Given the description of an element on the screen output the (x, y) to click on. 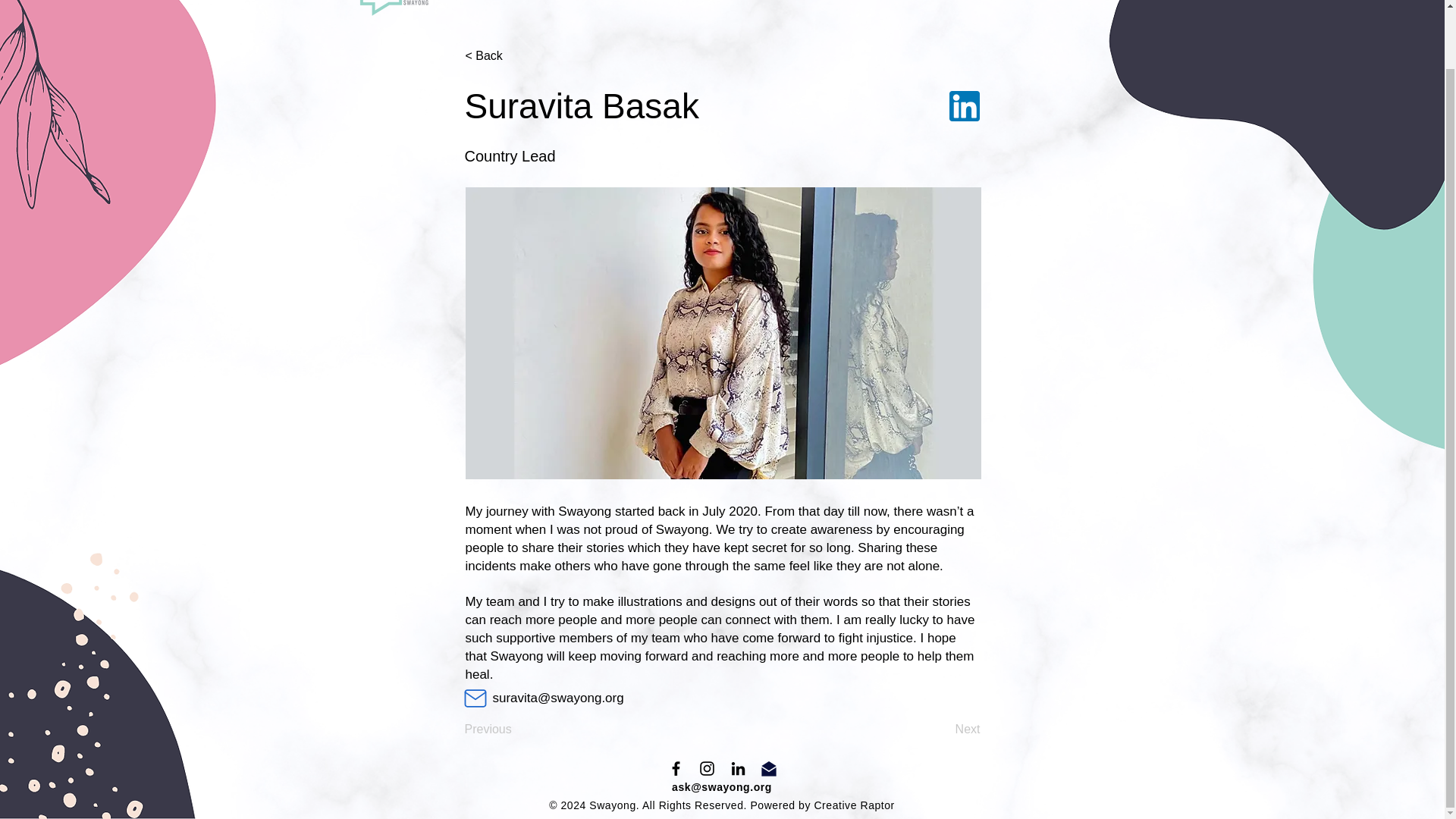
Home (595, 1)
Next (941, 729)
Previous (514, 729)
174857.png (964, 105)
Contact us (843, 1)
About us (668, 1)
